Given the description of an element on the screen output the (x, y) to click on. 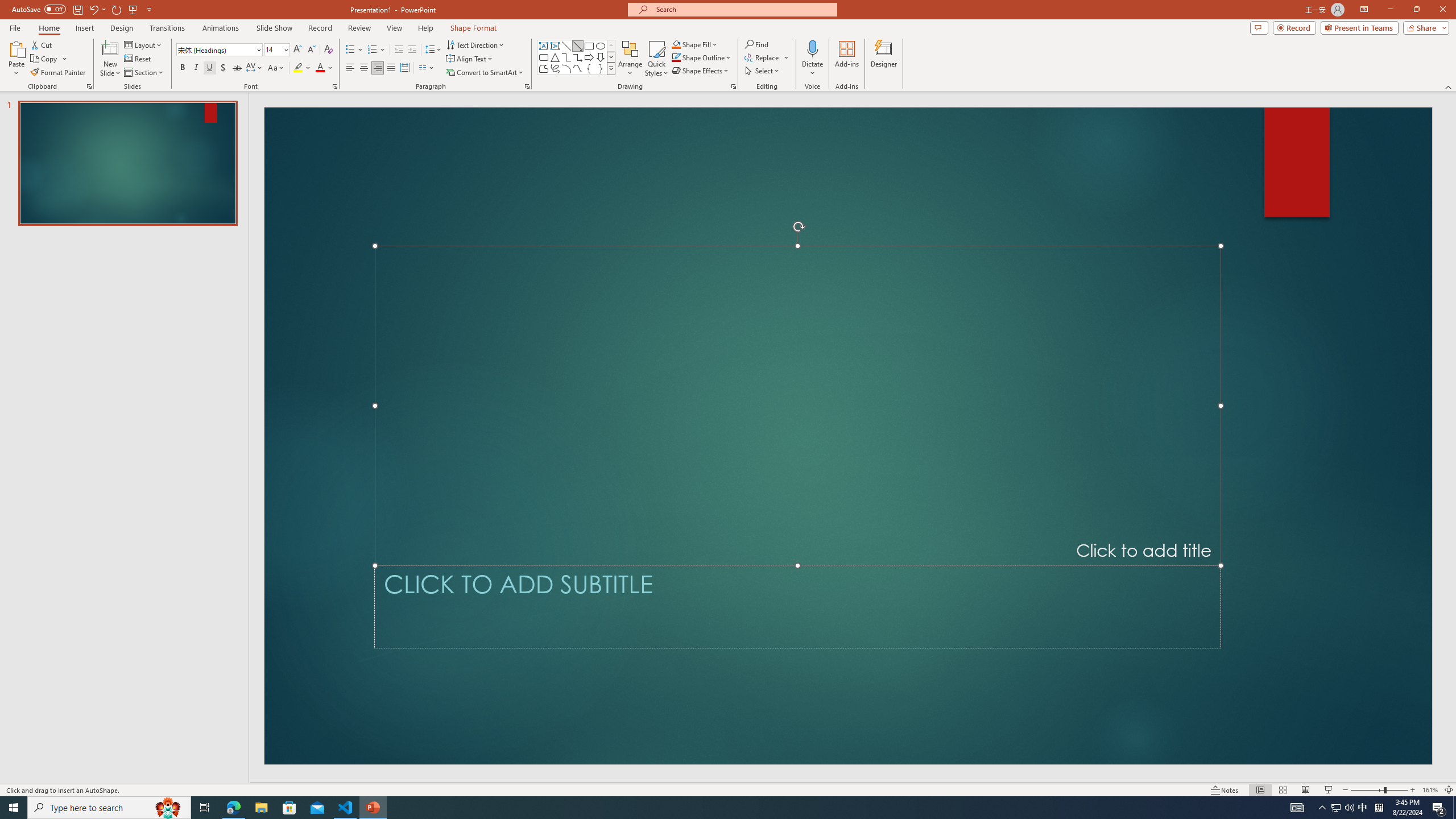
Zoom 161% (1430, 790)
